Given the description of an element on the screen output the (x, y) to click on. 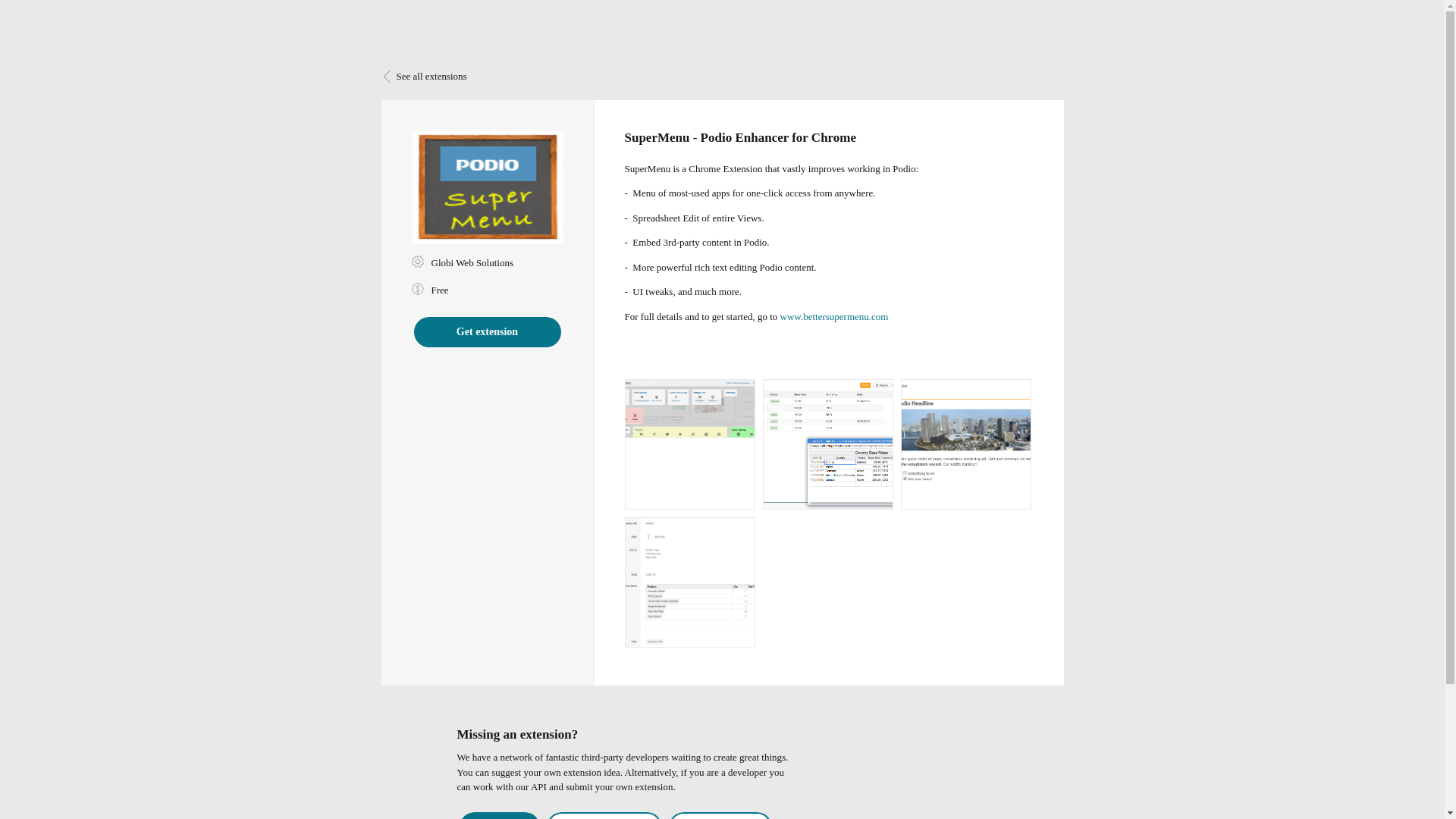
Get extension (486, 331)
Submit extension (719, 815)
Developer resources (604, 815)
Globi Web Solutions (471, 262)
See all extensions (422, 75)
Suggest idea (500, 815)
www.bettersupermenu.com (832, 316)
